Given the description of an element on the screen output the (x, y) to click on. 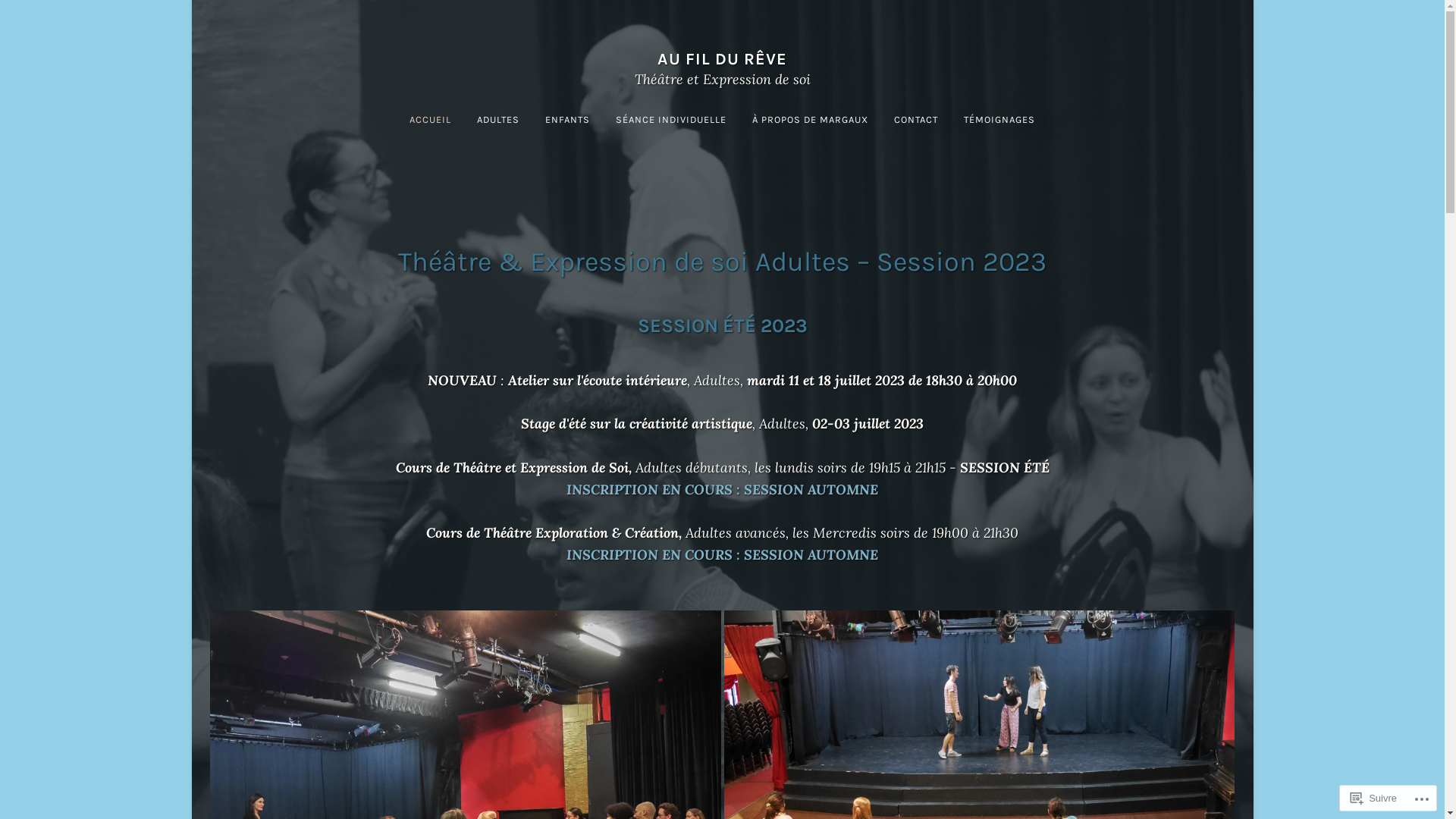
Suivre Element type: text (1373, 797)
ACCUEIL Element type: text (430, 119)
ADULTES Element type: text (497, 119)
ENFANTS Element type: text (567, 119)
CONTACT Element type: text (915, 119)
